Given the description of an element on the screen output the (x, y) to click on. 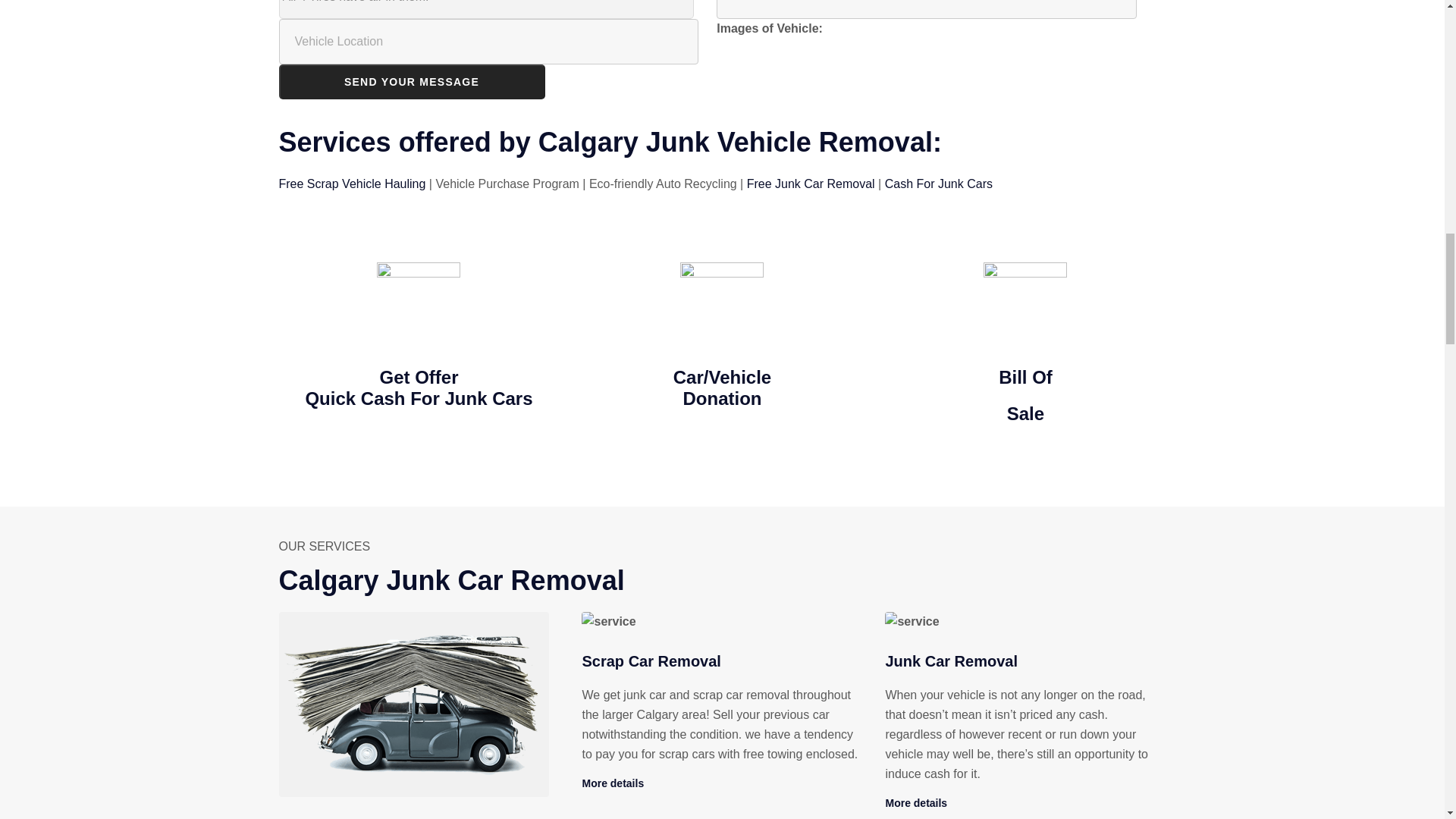
More details (916, 802)
Free Junk Car Removal (810, 183)
Send your message (411, 81)
Bill Of (1025, 376)
Free Scrap Vehicle Hauling (352, 183)
More details (611, 783)
Send your message (411, 81)
Cash For Junk Cars (938, 183)
